Given the description of an element on the screen output the (x, y) to click on. 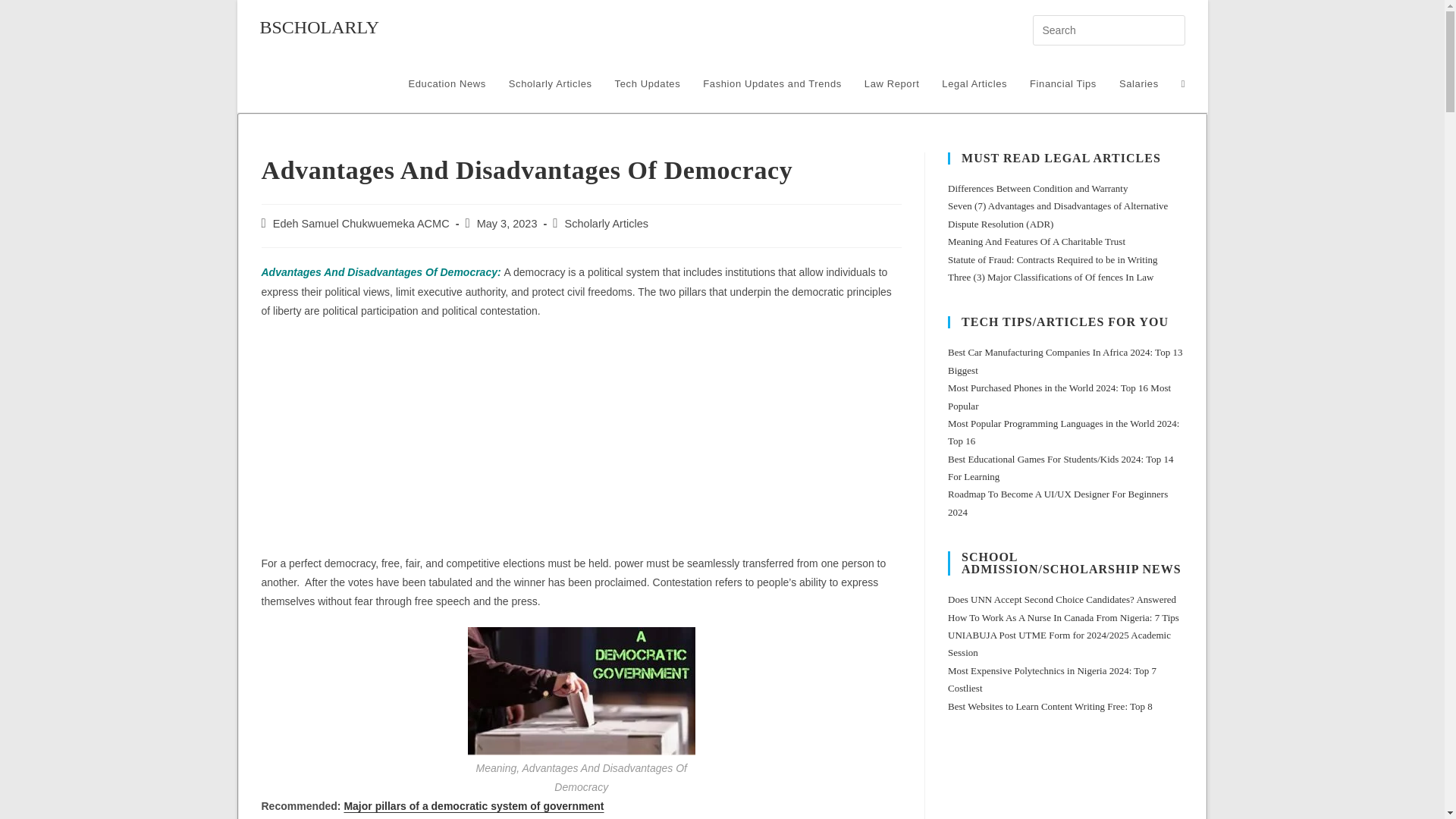
Legal Articles (973, 84)
Law Report (891, 84)
Posts by Edeh Samuel Chukwuemeka ACMC (361, 223)
Major pillars of a democratic system of government (473, 806)
Fashion Updates and Trends (772, 84)
Salaries (1139, 84)
Scholarly Articles (550, 84)
BSCHOLARLY (318, 26)
Edeh Samuel Chukwuemeka ACMC (361, 223)
Tech Updates (648, 84)
